Given the description of an element on the screen output the (x, y) to click on. 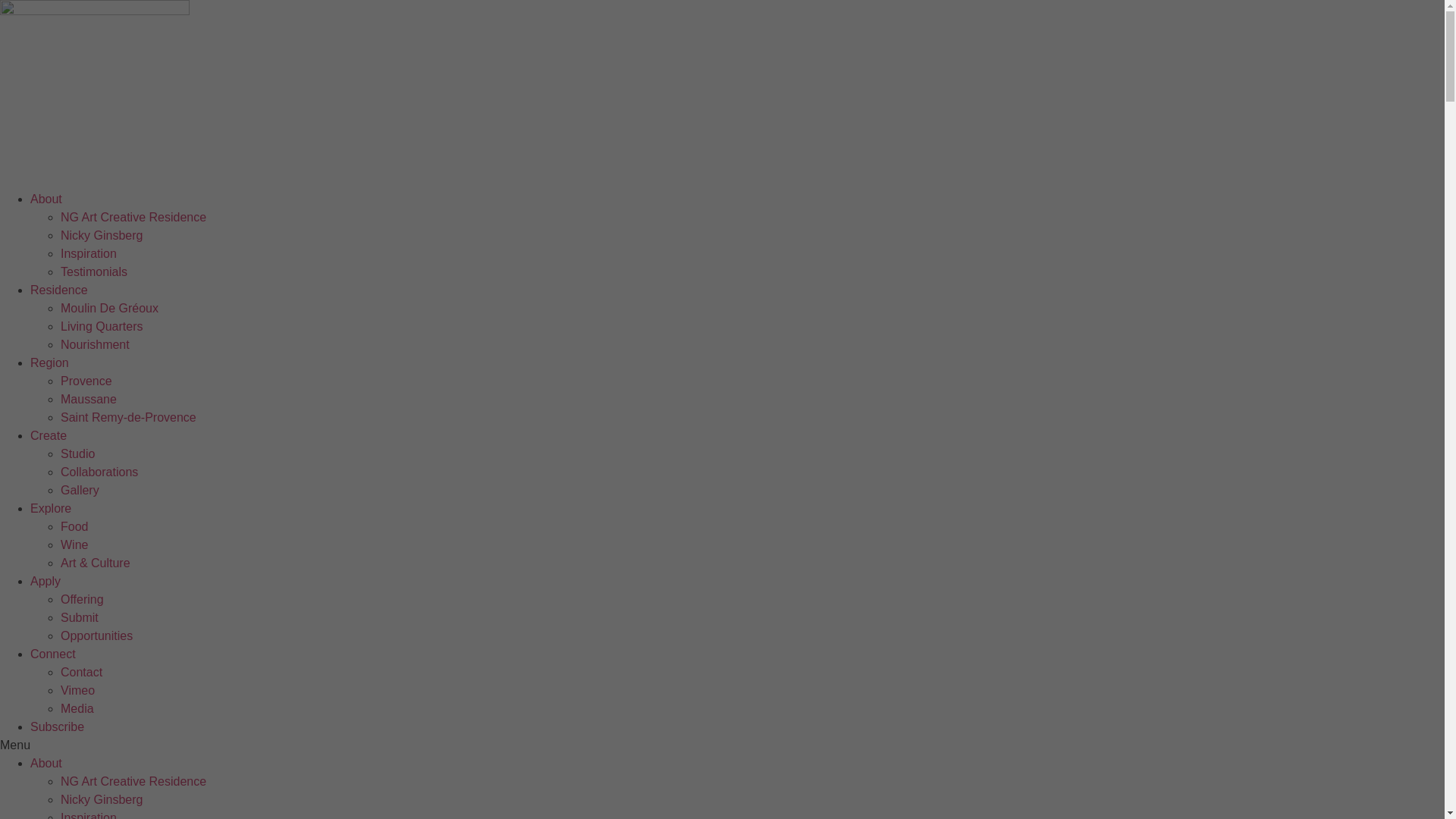
Studio Element type: text (77, 453)
Explore Element type: text (50, 508)
Collaborations Element type: text (99, 471)
Gallery Element type: text (79, 489)
NG Art Creative Residence Element type: text (133, 216)
Submit Element type: text (79, 617)
Offering Element type: text (81, 599)
Inspiration Element type: text (88, 253)
Art & Culture Element type: text (95, 562)
Living Quarters Element type: text (101, 326)
Saint Remy-de-Provence Element type: text (128, 417)
Apply Element type: text (45, 580)
Nourishment Element type: text (94, 344)
About Element type: text (46, 198)
Nicky Ginsberg Element type: text (101, 235)
About Element type: text (46, 762)
Provence Element type: text (86, 380)
Contact Element type: text (81, 671)
Testimonials Element type: text (93, 271)
Opportunities Element type: text (96, 635)
Wine Element type: text (73, 544)
Region Element type: text (49, 362)
Create Element type: text (48, 435)
Subscribe Element type: text (57, 726)
Vimeo Element type: text (77, 690)
NG Art Creative Residence Element type: text (133, 781)
Nicky Ginsberg Element type: text (101, 799)
Media Element type: text (77, 708)
Connect Element type: text (52, 653)
Food Element type: text (73, 526)
Maussane Element type: text (88, 398)
Residence Element type: text (58, 289)
